Given the description of an element on the screen output the (x, y) to click on. 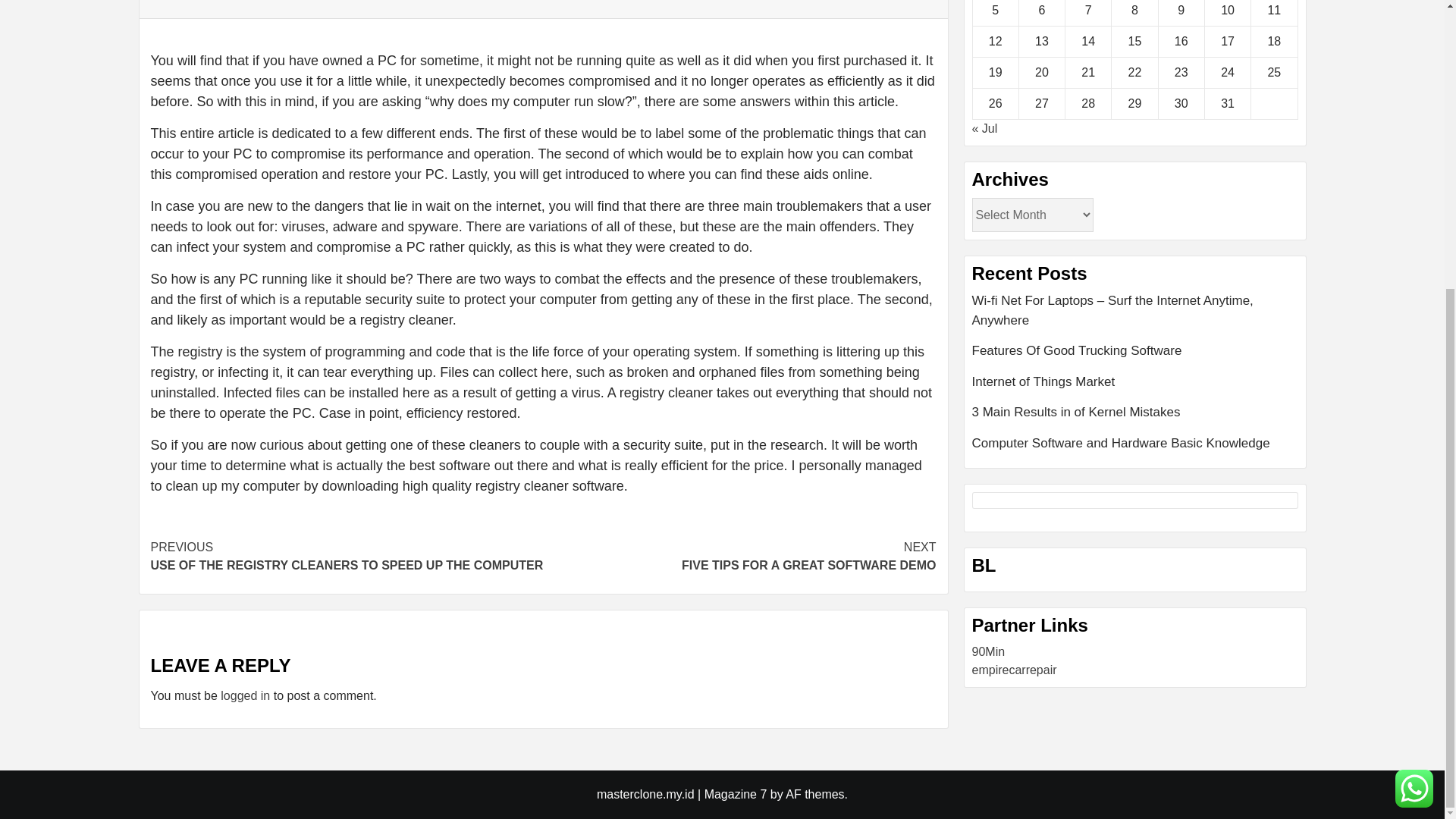
roxanaohair (1004, 688)
Magazine 7 (739, 556)
logged in (735, 793)
Cartoon Drawing Skill and Computers (245, 695)
ranaevillas (1135, 462)
3 Main Results in of Kernel Mistakes (1000, 670)
